Given the description of an element on the screen output the (x, y) to click on. 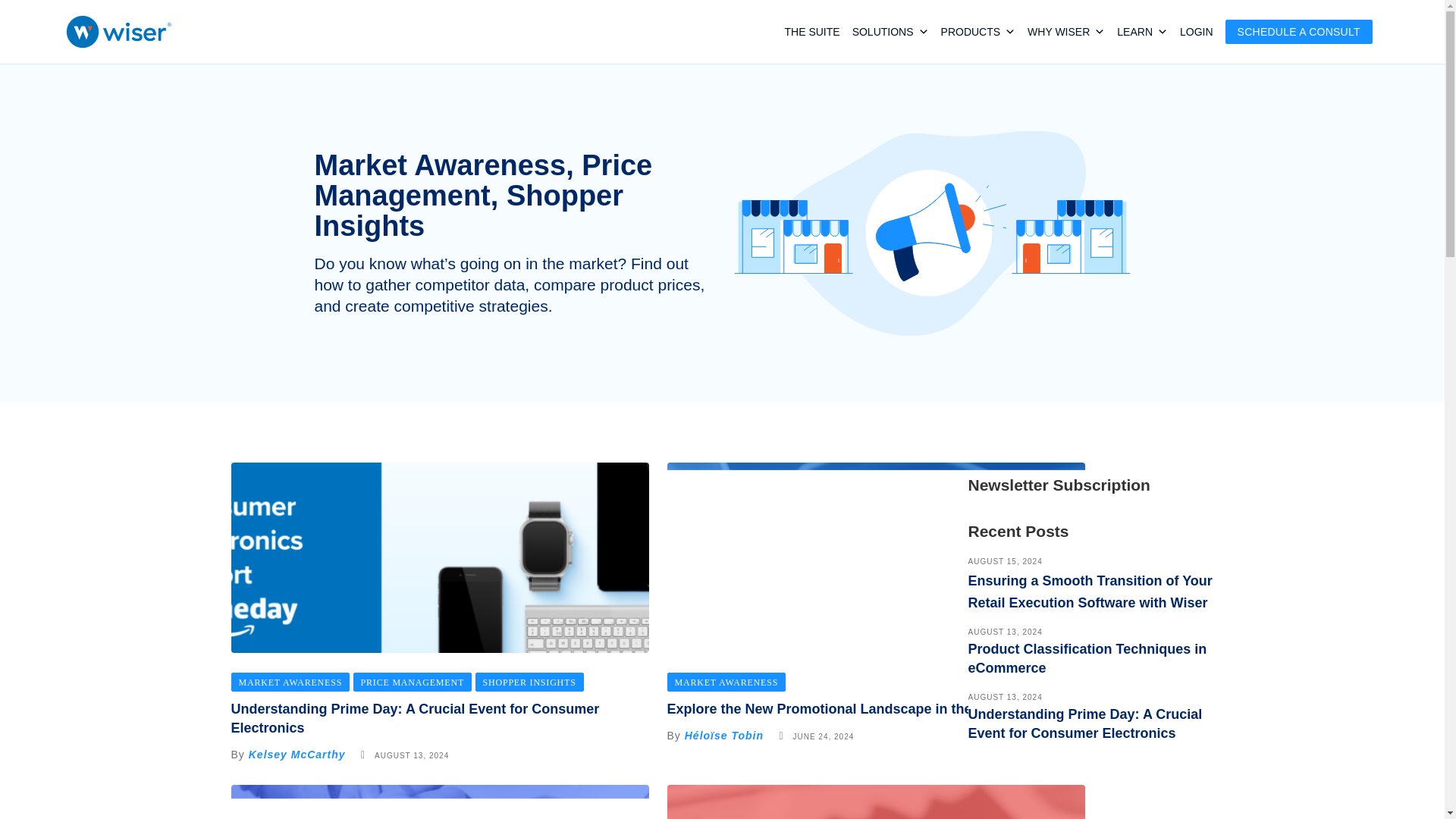
WHY WISER (1066, 31)
SCHEDULE A CONSULT (1299, 31)
Posts by Kelsey McCarthy (297, 754)
PRODUCTS (978, 9)
